Given the description of an element on the screen output the (x, y) to click on. 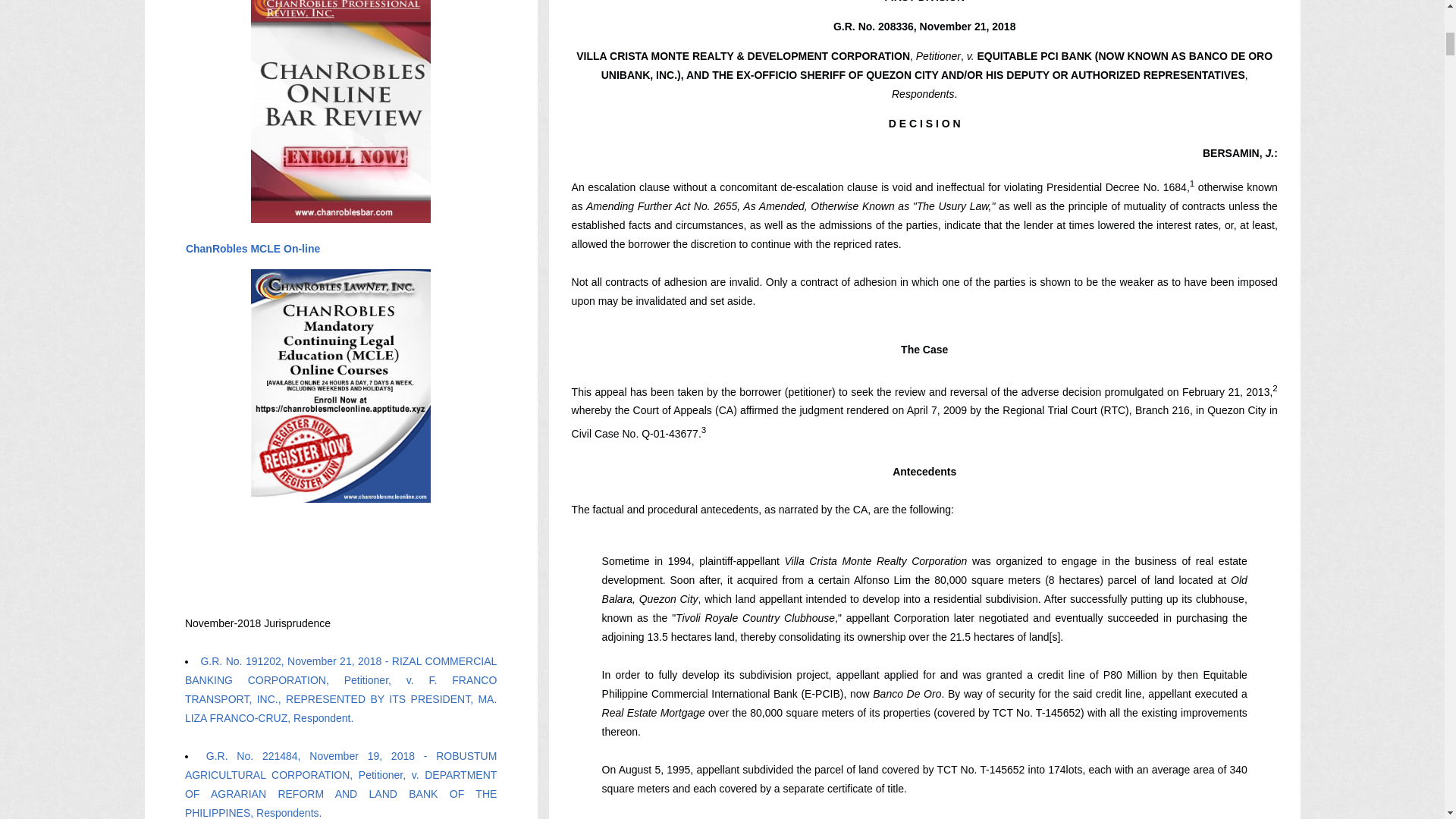
ChanRobles MCLE On-line (252, 248)
